Given the description of an element on the screen output the (x, y) to click on. 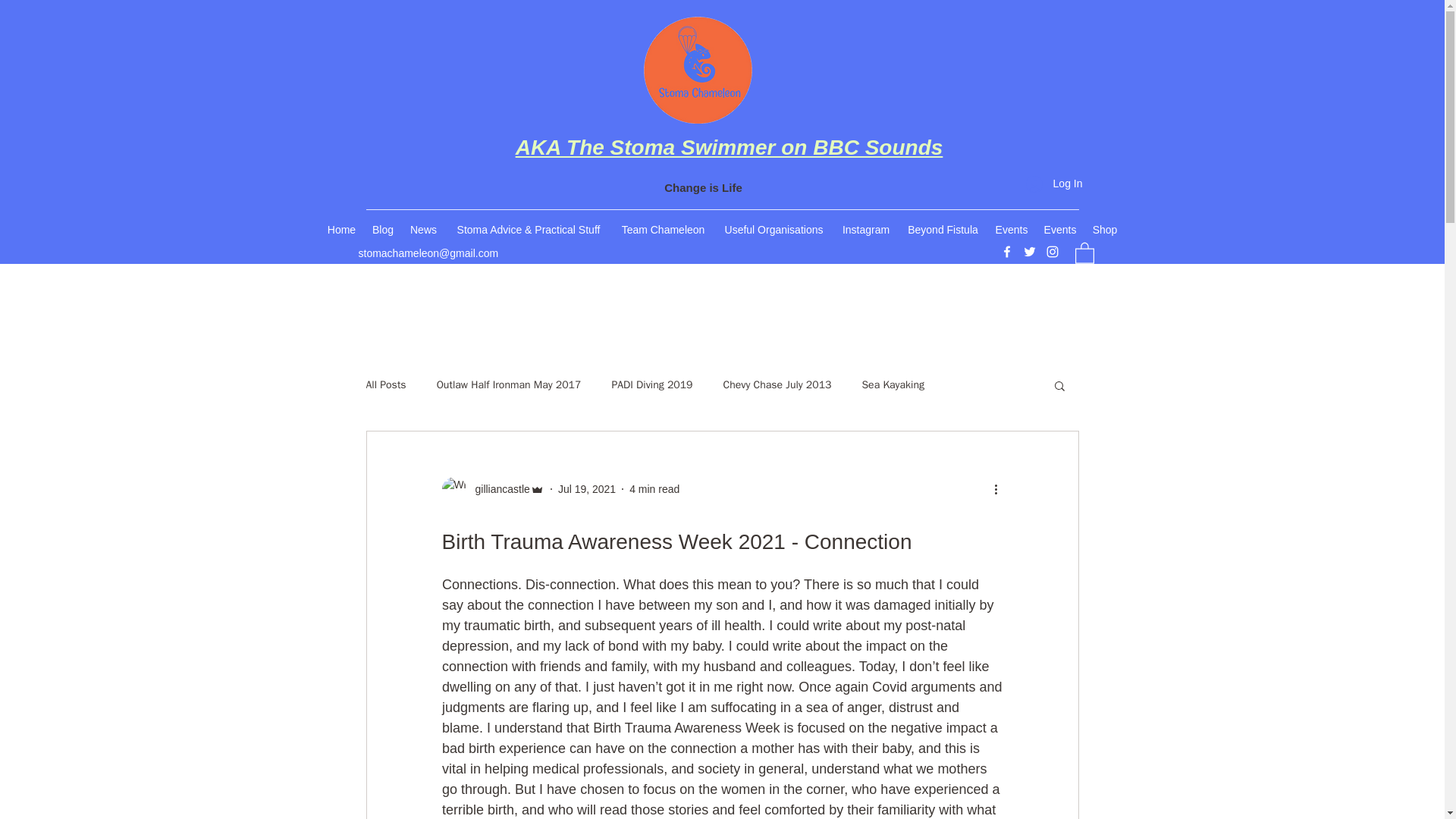
Outlaw Half Ironman May 2017 (508, 385)
Team Chameleon (662, 229)
Useful Organisations (773, 229)
Events (1011, 229)
Events (1059, 229)
AKA The Stoma Swimmer on BBC Sounds (729, 146)
Sea Kayaking (892, 385)
Chevy Chase July 2013 (777, 385)
gilliancastle (497, 488)
Log In (1053, 183)
News (423, 229)
Jul 19, 2021 (586, 488)
Instagram (865, 229)
Blog (382, 229)
Beyond Fistula (942, 229)
